Given the description of an element on the screen output the (x, y) to click on. 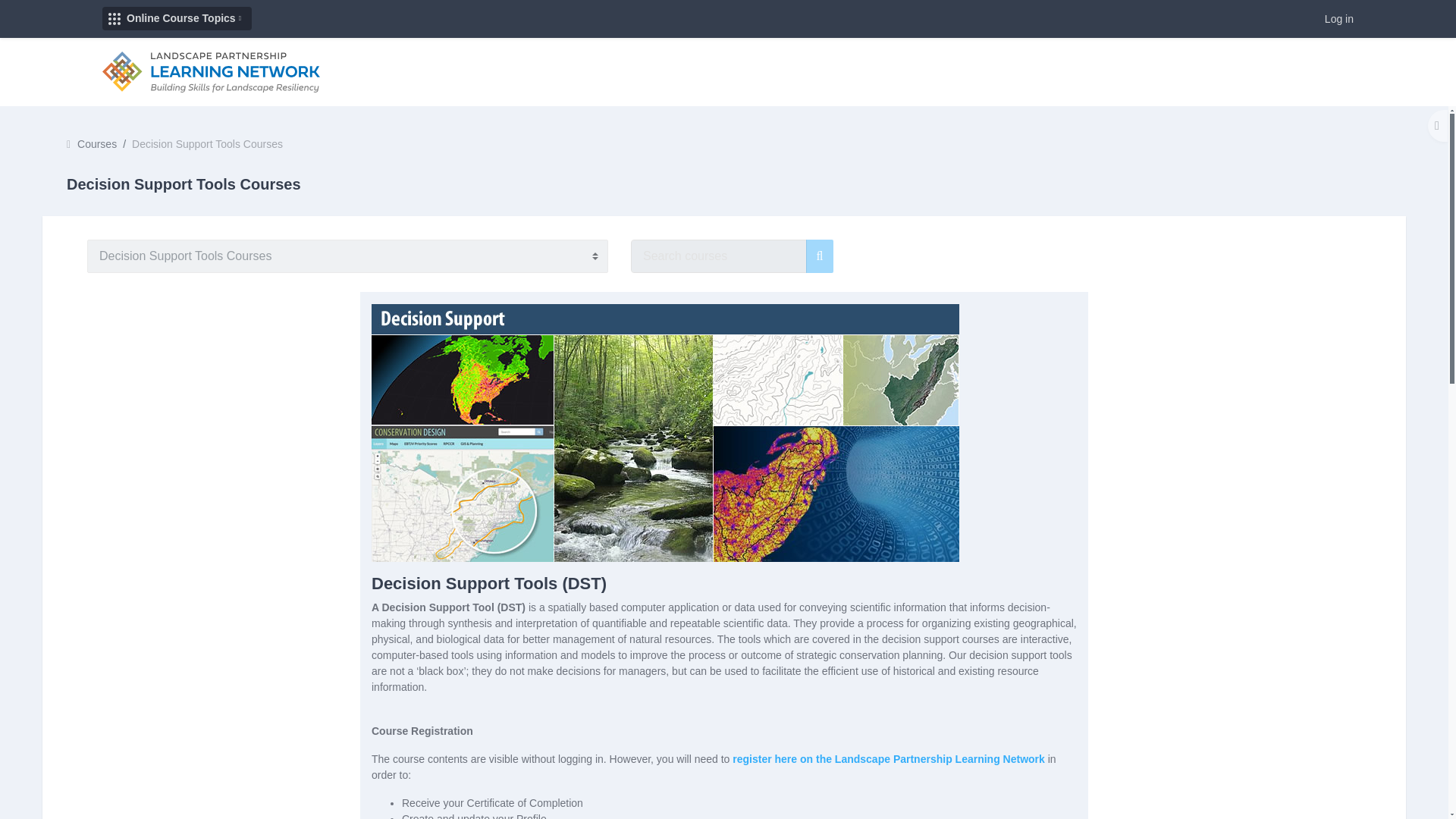
Online Course Topics (176, 17)
Log in (1339, 18)
Register on the LP Learning Network (888, 758)
